Given the description of an element on the screen output the (x, y) to click on. 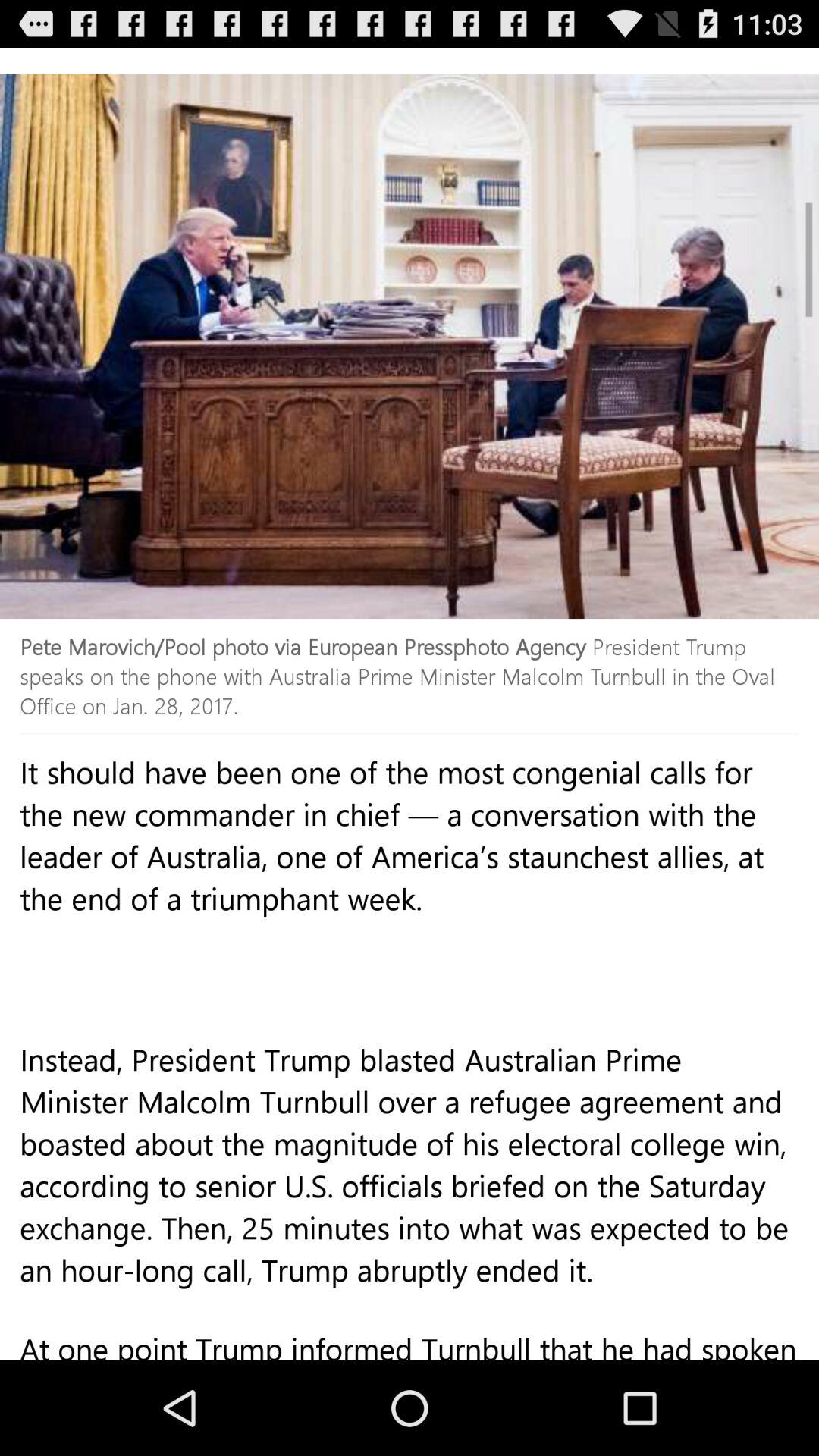
turn off item above the at one point icon (409, 1197)
